Given the description of an element on the screen output the (x, y) to click on. 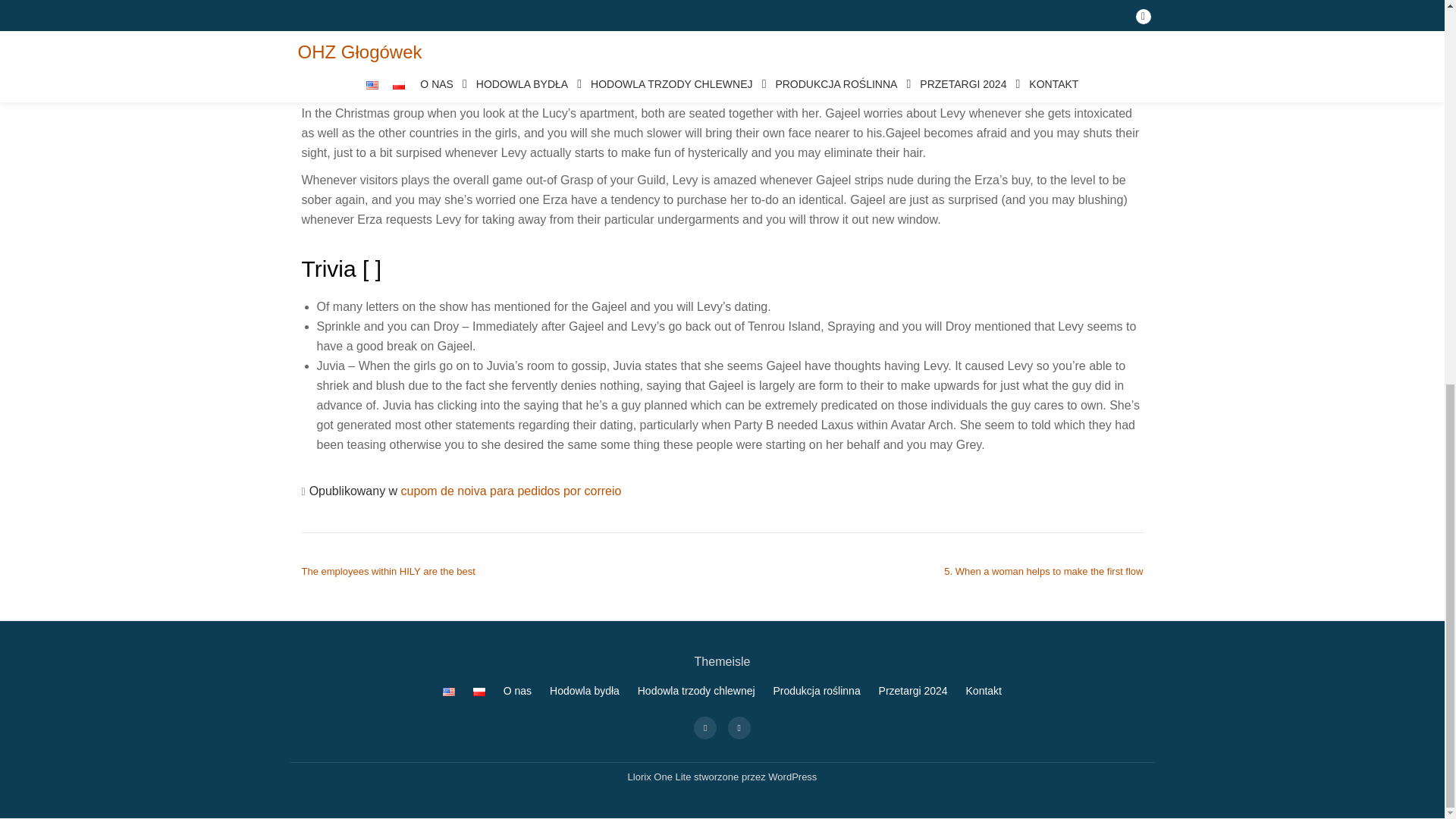
Kontakt (983, 690)
5. When a woman helps to make the first flow (1042, 571)
fa-youtube (738, 726)
O nas (517, 690)
Hodowla trzody chlewnej (696, 690)
Przetargi 2024 (913, 690)
Llorix One Lite (660, 776)
The employees within HILY are the best (388, 571)
cupom de noiva para pedidos por correio (511, 490)
fa-facebook (705, 726)
